Given the description of an element on the screen output the (x, y) to click on. 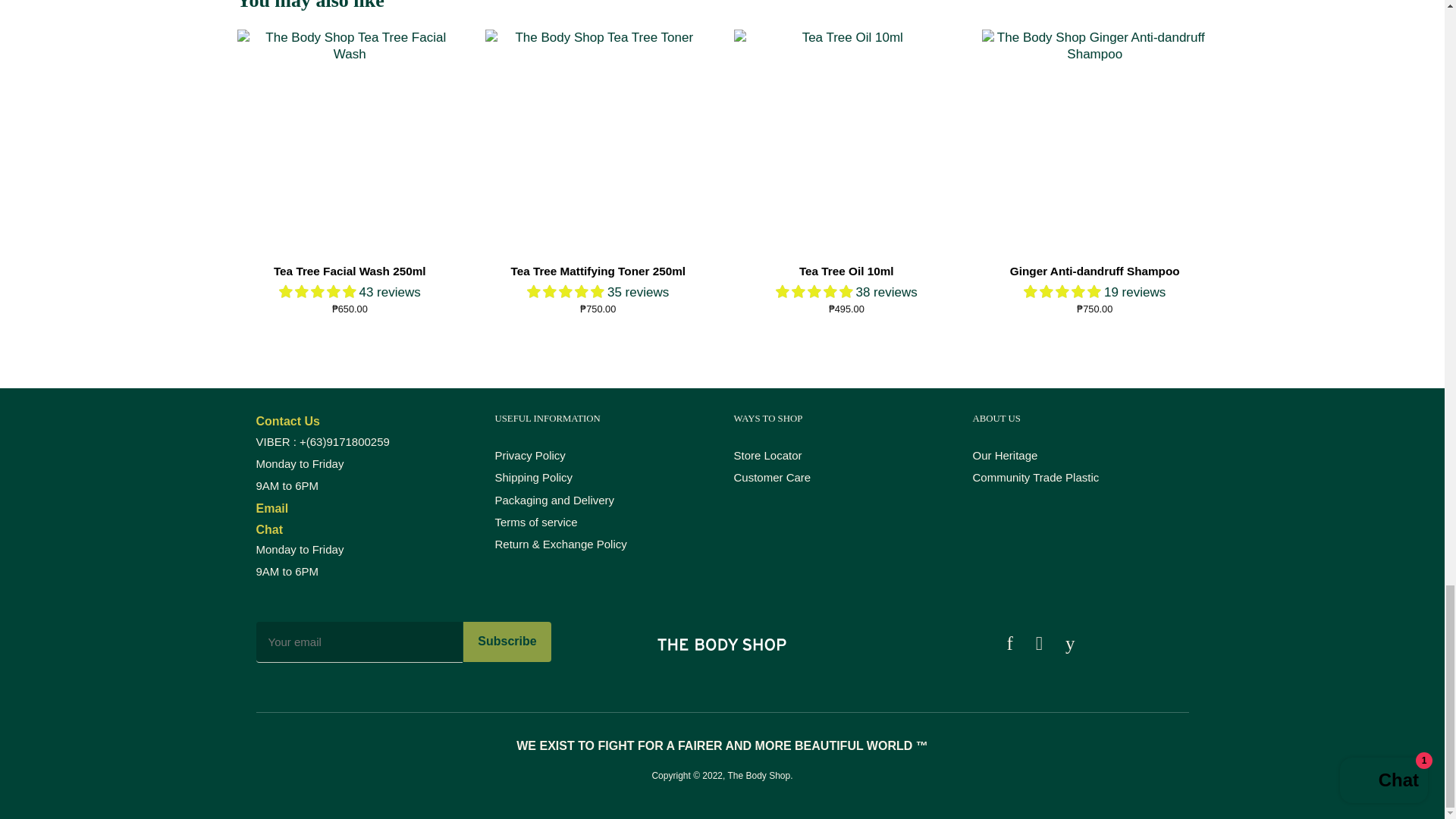
Subscribe (507, 641)
